Given the description of an element on the screen output the (x, y) to click on. 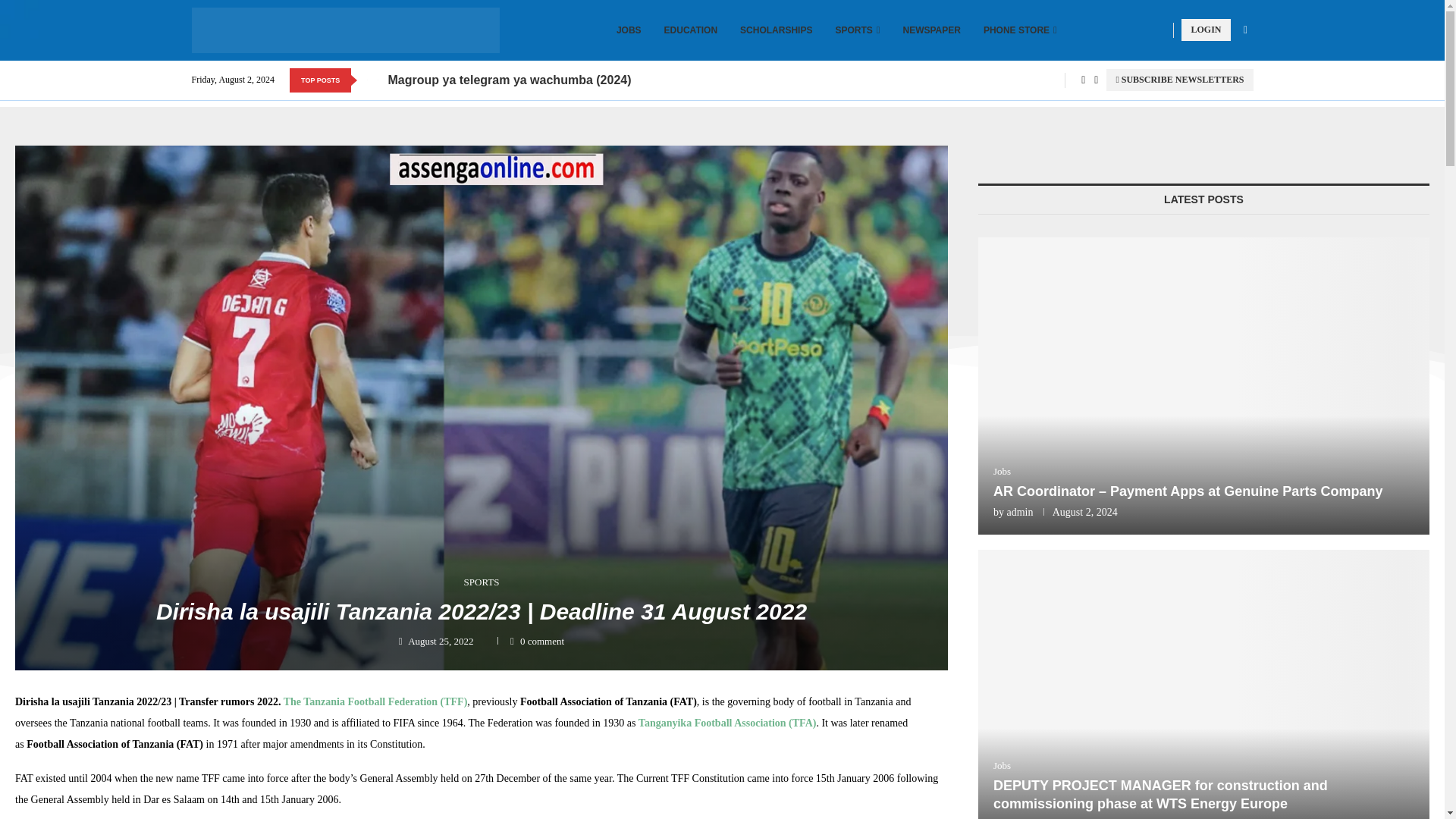
SCHOLARSHIPS (775, 30)
NEWSPAPER (930, 30)
SPORTS (856, 30)
EDUCATION (690, 30)
PHONE STORE (1020, 30)
